Given the description of an element on the screen output the (x, y) to click on. 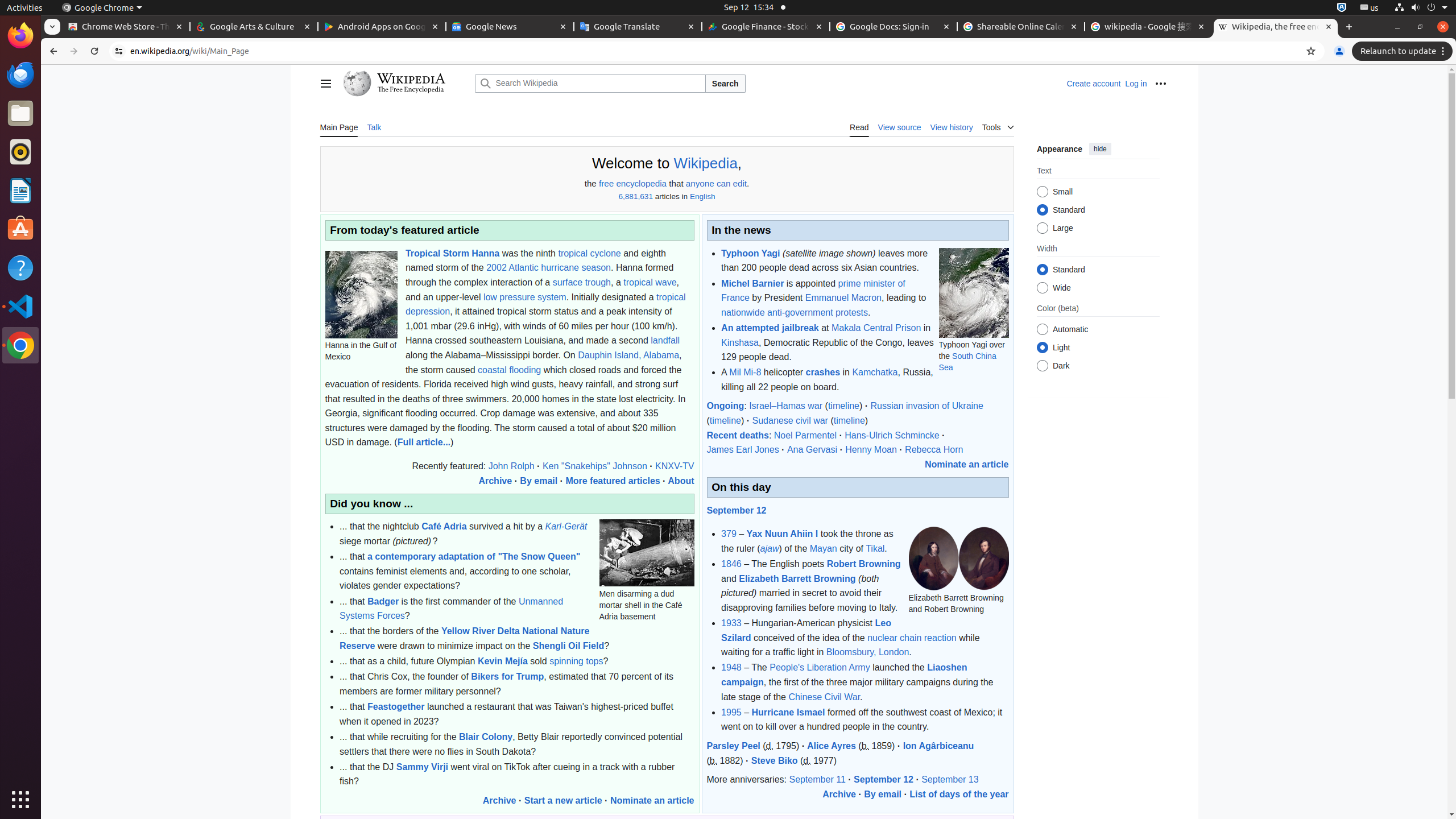
You Element type: push-button (1339, 50)
free Element type: link (606, 183)
Ken "Snakehips" Johnson Element type: link (594, 466)
Dark Element type: radio-button (1042, 365)
Wikipedia Element type: link (705, 163)
